Given the description of an element on the screen output the (x, y) to click on. 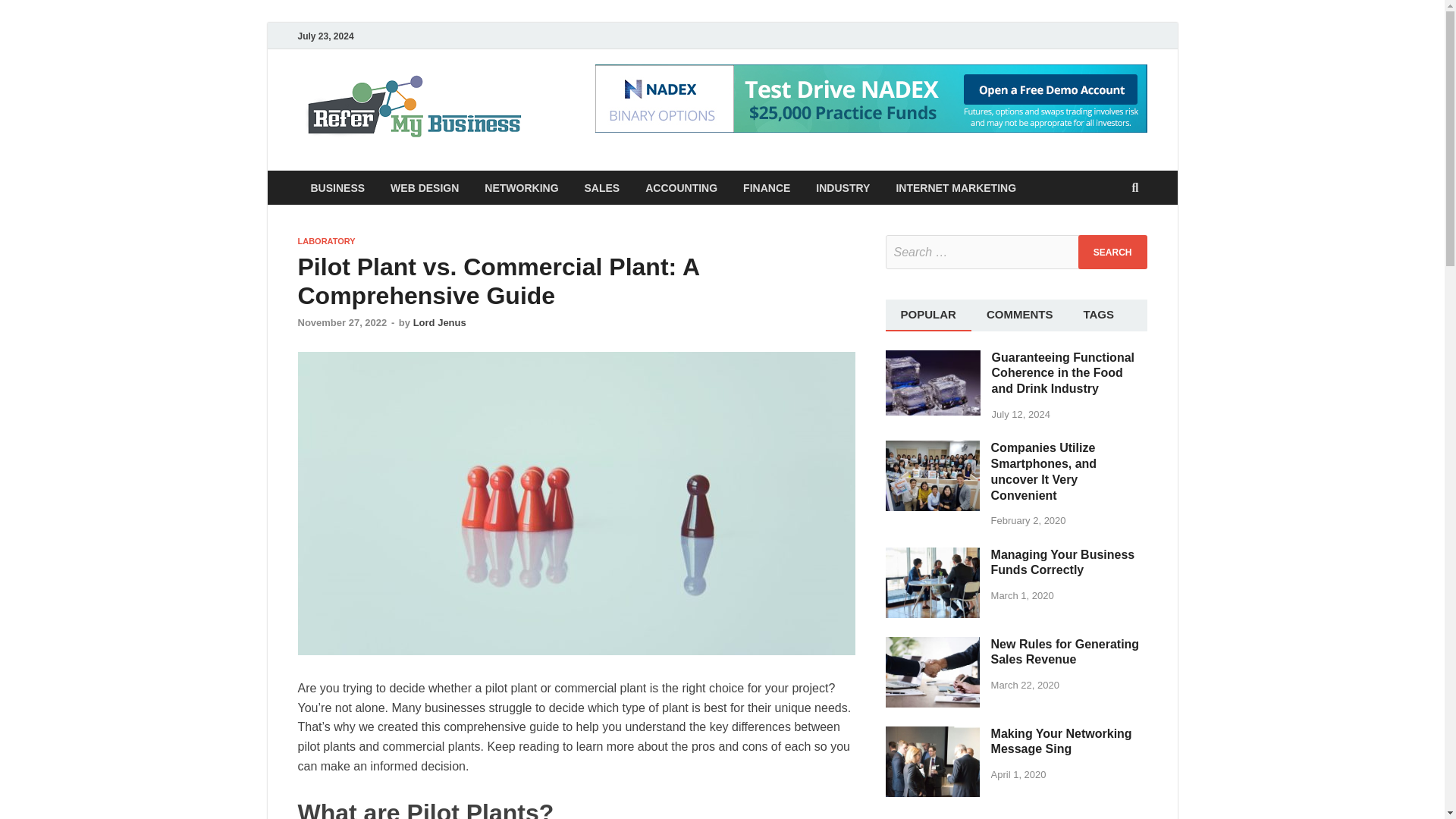
COMMENTS (1019, 314)
New Rules for Generating Sales Revenue (932, 645)
Search (1112, 252)
INDUSTRY (842, 187)
Search (1112, 252)
FINANCE (766, 187)
Refer My Business (658, 100)
Lord Jenus (439, 322)
TAGS (1098, 314)
November 27, 2022 (342, 322)
BUSINESS (337, 187)
WEB DESIGN (424, 187)
SALES (602, 187)
LABORATORY (326, 240)
